Given the description of an element on the screen output the (x, y) to click on. 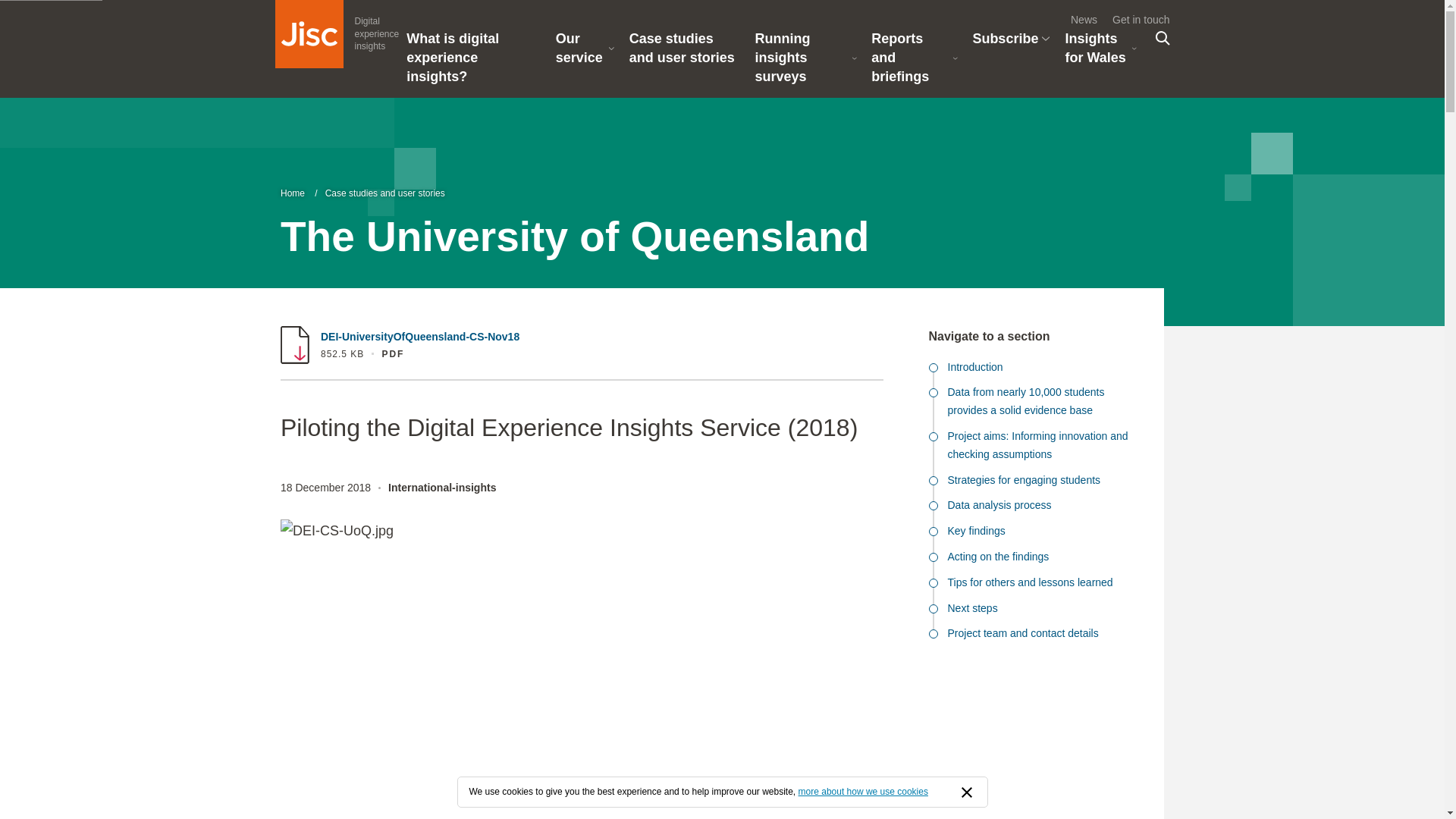
Jisc (308, 33)
Our service (584, 53)
Key findings (1034, 534)
Next steps (1034, 612)
Project aims: Informing innovation and checking assumptions (1034, 449)
Case studies and user stories (336, 33)
Project team and contact details (684, 53)
Data analysis process (1034, 637)
Reports and briefings (1034, 509)
